Given the description of an element on the screen output the (x, y) to click on. 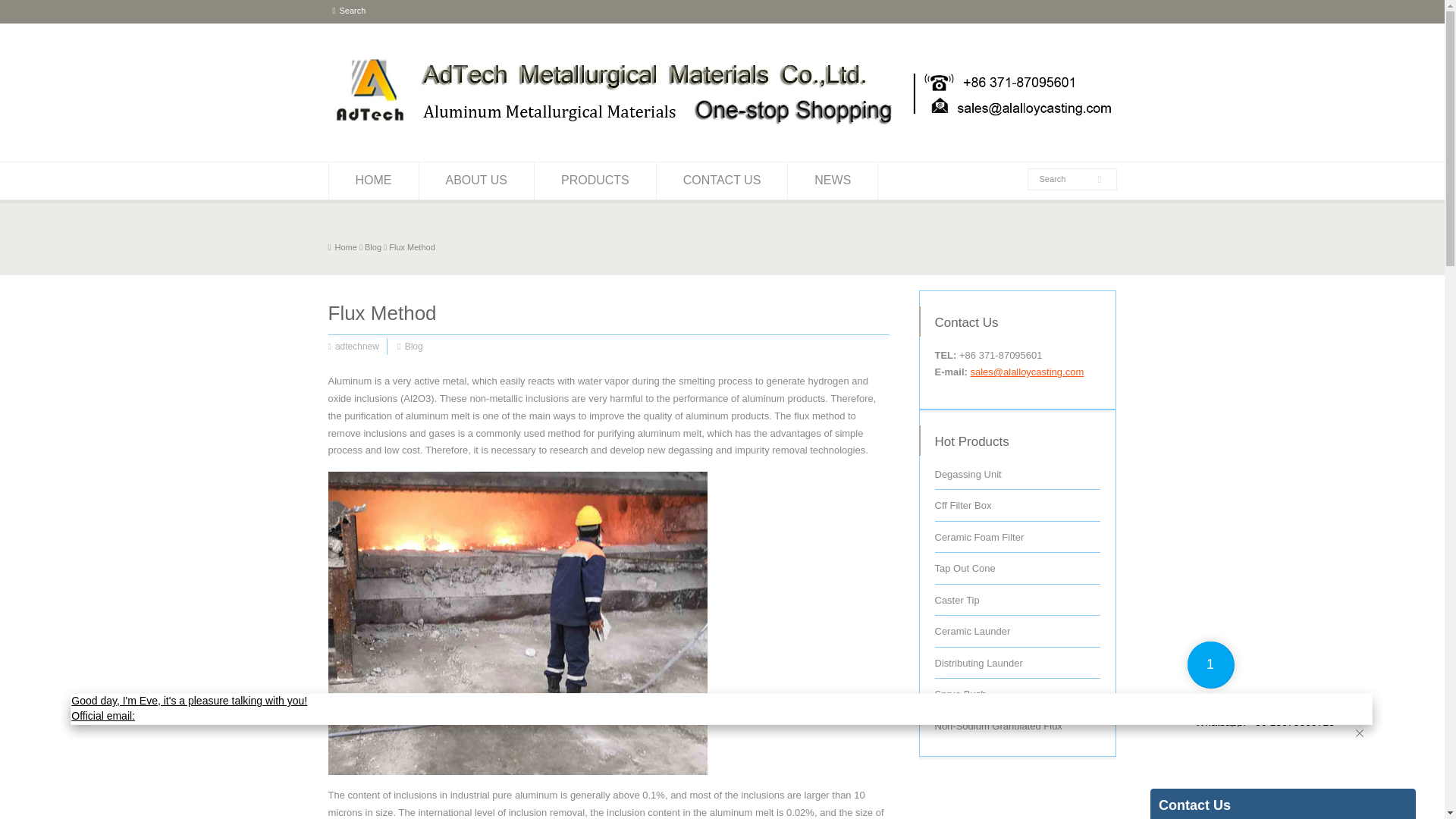
CONTACT US (721, 180)
View all posts in Blog (373, 246)
Search (353, 10)
Search (353, 10)
PRODUCTS (595, 180)
Search (1063, 178)
Home (341, 246)
HOME (374, 180)
adtechnew (356, 346)
Blog (413, 346)
ABOUT US (476, 180)
NEWS (832, 180)
Search (1063, 178)
Flux Method (411, 246)
